Given the description of an element on the screen output the (x, y) to click on. 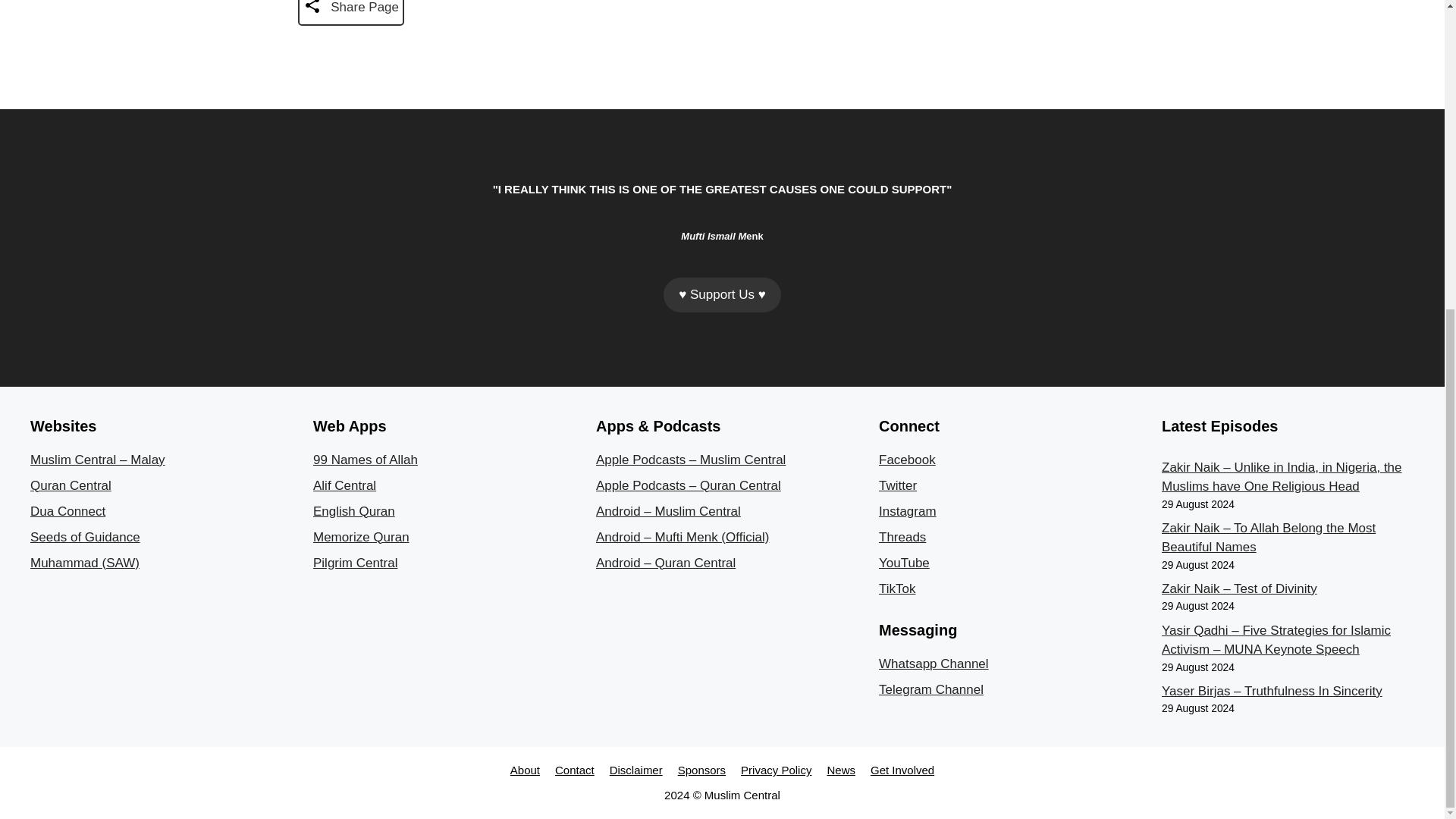
99 Names of Allah (365, 459)
Alif Central (344, 485)
Pilgrim Central (355, 563)
Memorize Quran (361, 536)
English Quran (353, 511)
Dua Connect (67, 511)
Facebook (907, 459)
Quran Central (71, 485)
Seeds of Guidance (84, 536)
